Given the description of an element on the screen output the (x, y) to click on. 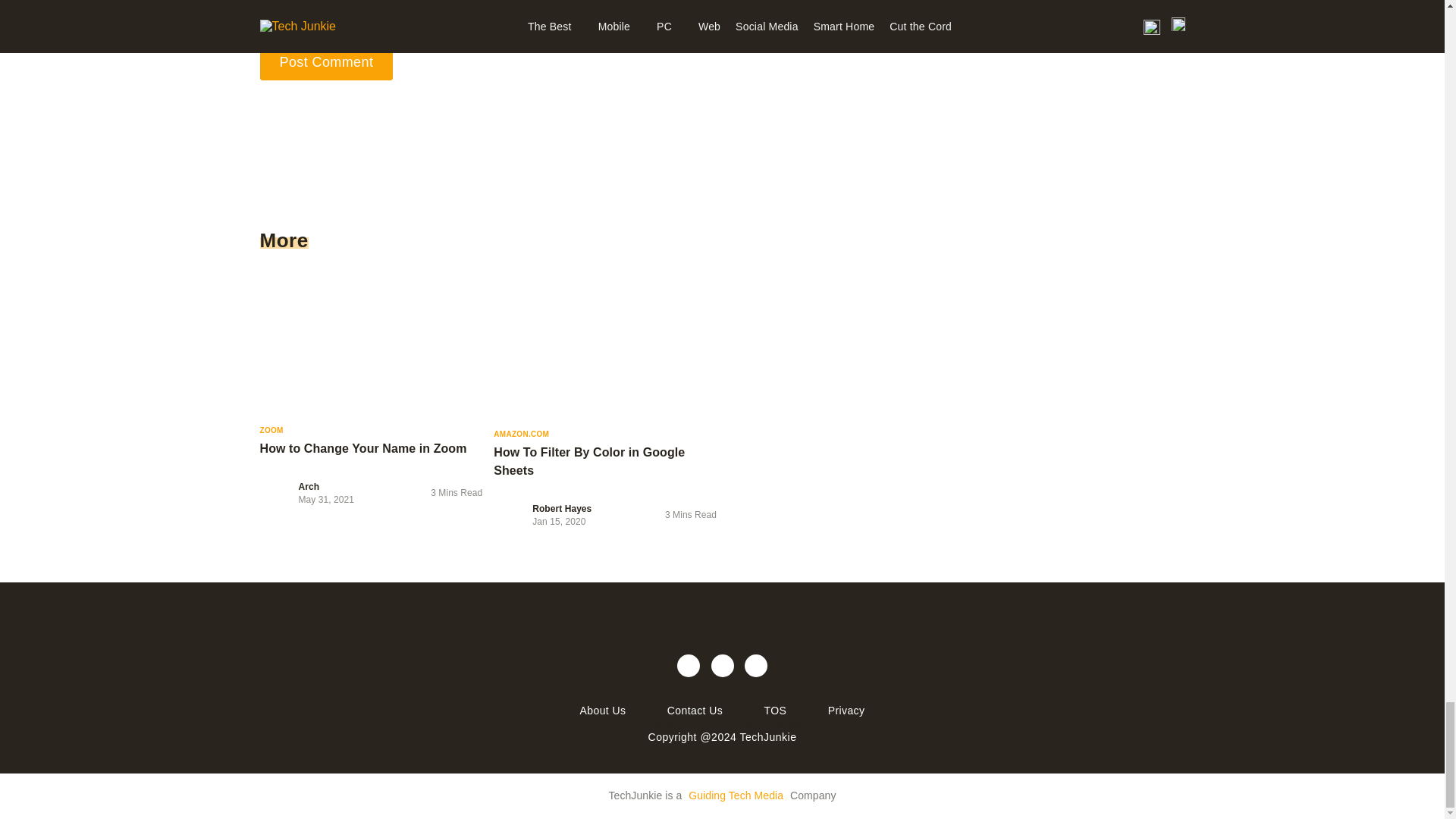
Post Comment (326, 62)
Tech Junkie (721, 620)
